Given the description of an element on the screen output the (x, y) to click on. 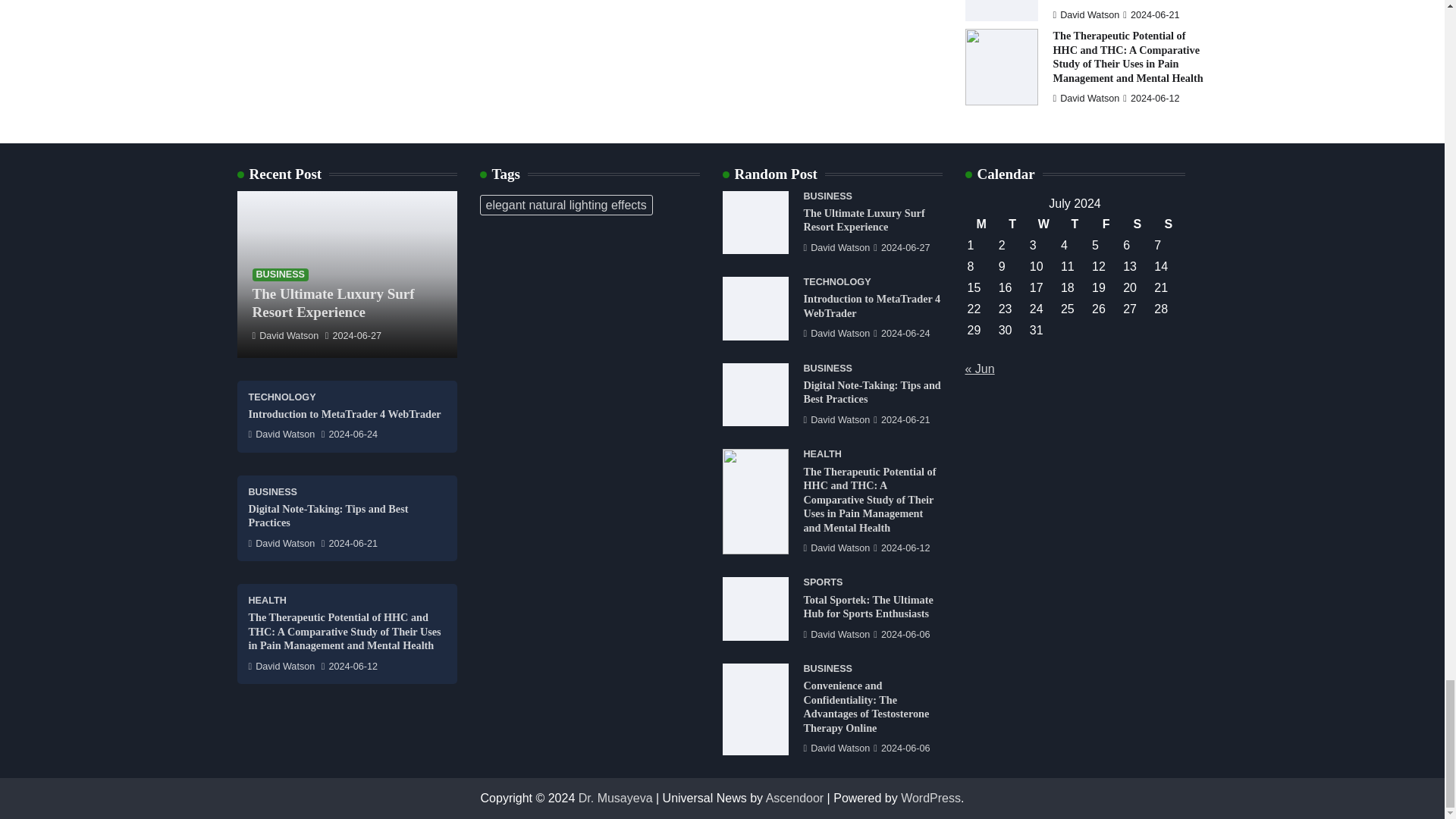
Wednesday (1043, 224)
Sunday (1167, 224)
Saturday (1136, 224)
Friday (1105, 224)
Thursday (1074, 224)
Tuesday (1012, 224)
Monday (980, 224)
